Given the description of an element on the screen output the (x, y) to click on. 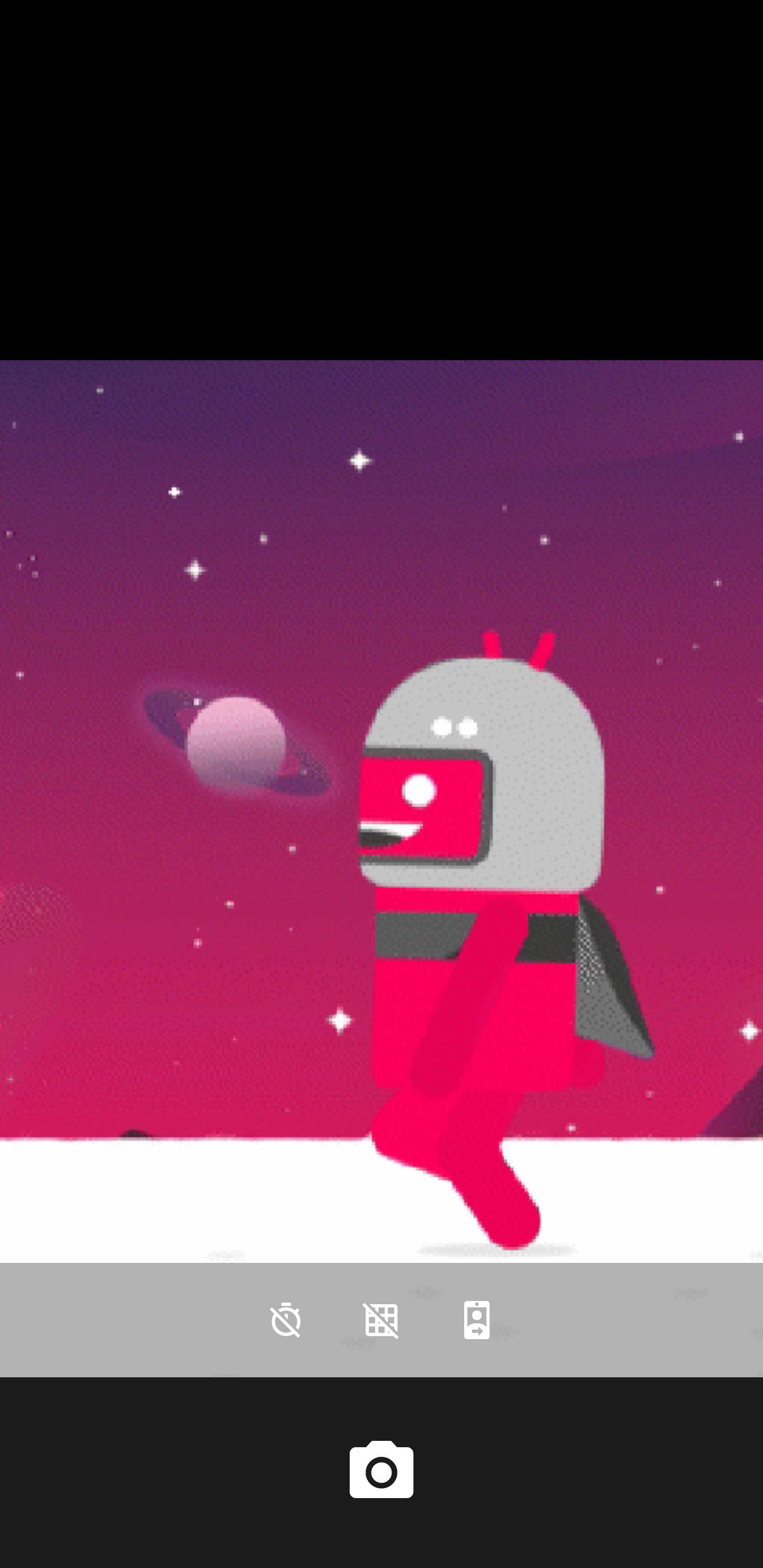
Countdown timer is off (285, 1319)
Grid lines off (381, 1319)
Front camera (476, 1319)
Shutter (381, 1472)
